Given the description of an element on the screen output the (x, y) to click on. 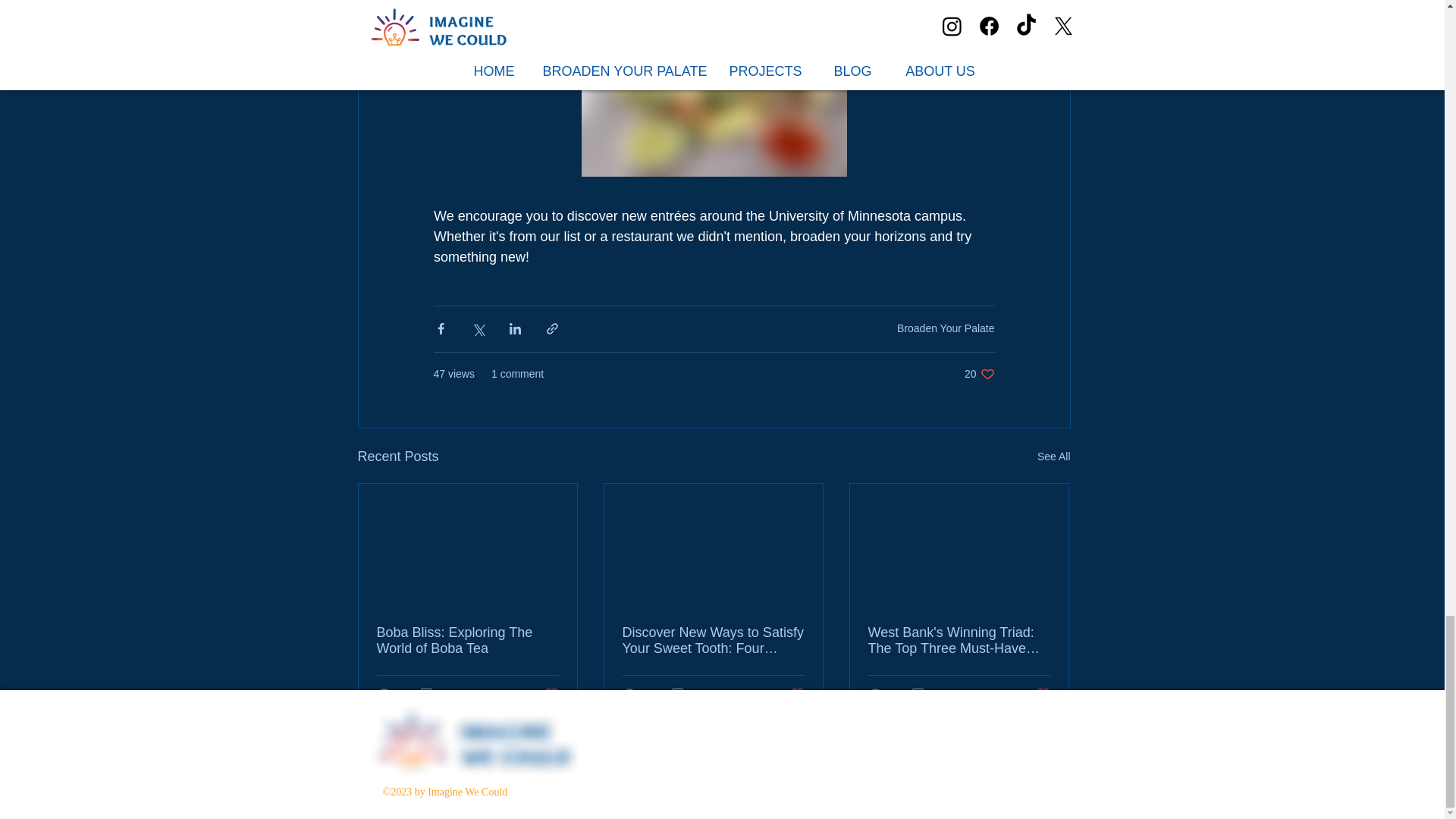
1 (682, 693)
Boba Bliss: Exploring The World of Boba Tea (466, 640)
See All (543, 693)
9 (1053, 456)
Broaden Your Palate (978, 373)
